Given the description of an element on the screen output the (x, y) to click on. 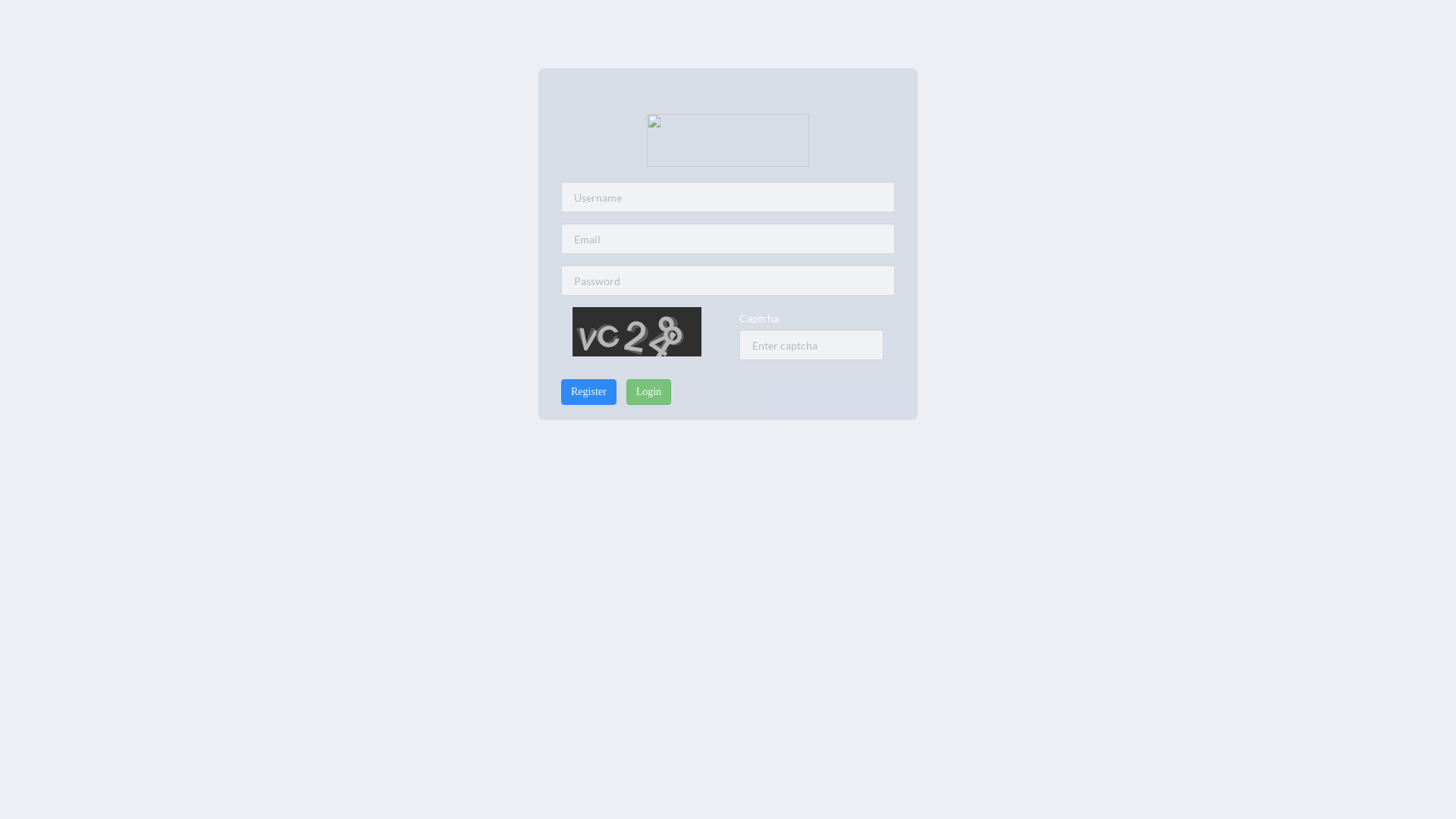
Please enter captcha as shown in image Element type: hover (811, 344)
Register Element type: text (588, 391)
Login Element type: text (648, 391)
